Given the description of an element on the screen output the (x, y) to click on. 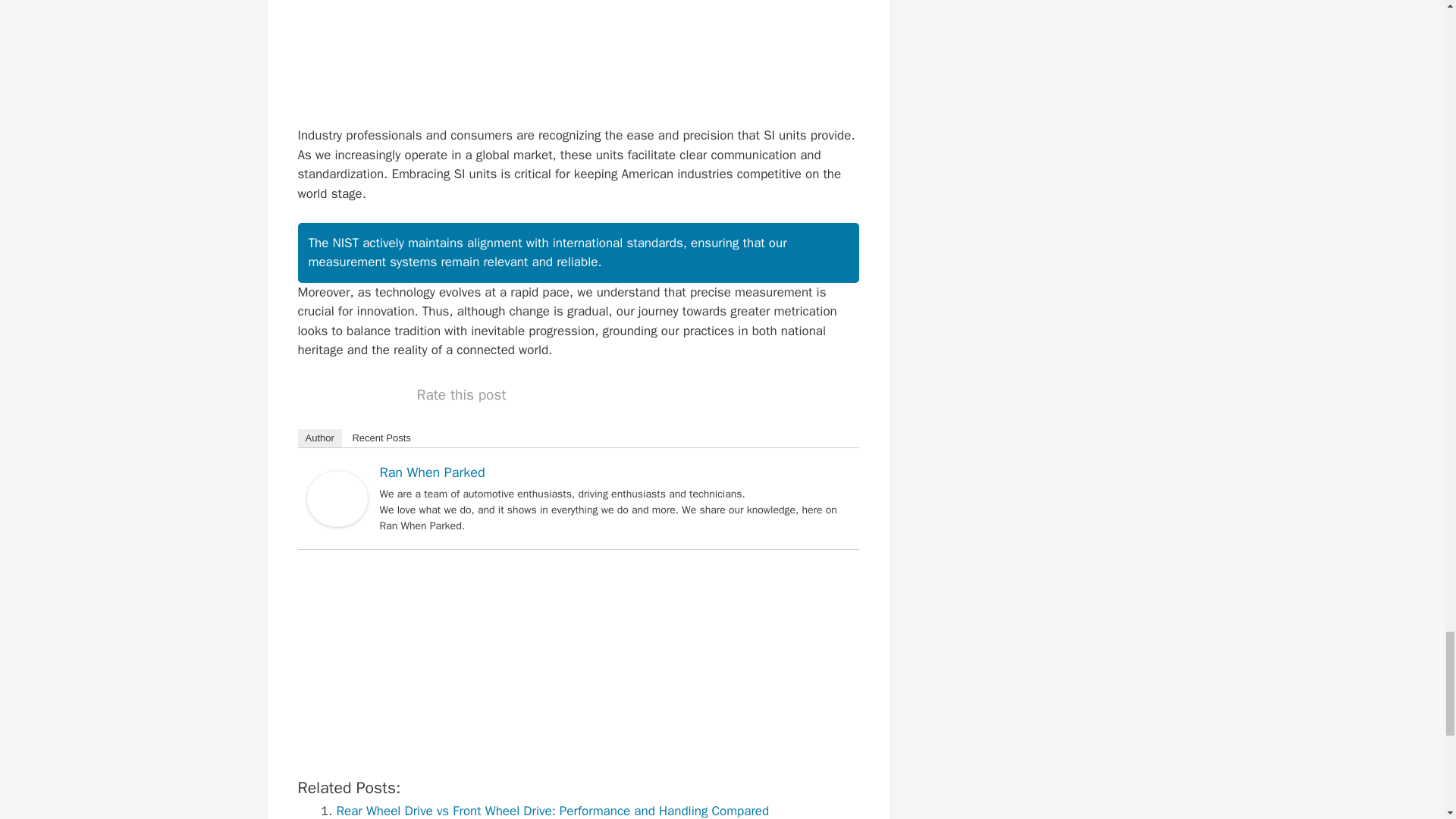
Ran When Parked (335, 522)
Author (318, 438)
